Given the description of an element on the screen output the (x, y) to click on. 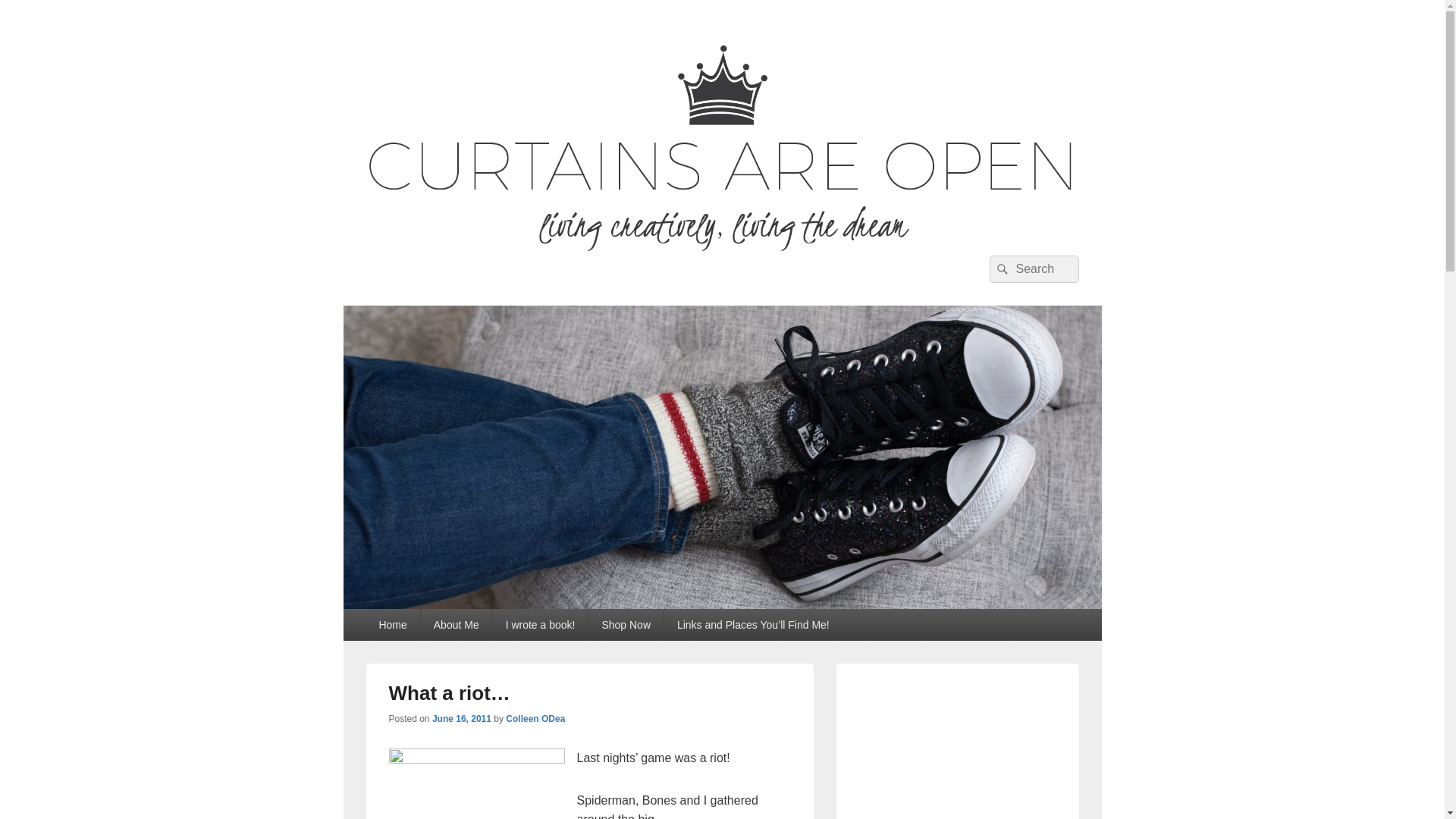
View all posts by Colleen ODea (534, 718)
Curtains are Open (483, 272)
1:44 pm (462, 718)
About Me (456, 624)
Shop Now (625, 624)
I wrote a book! (540, 624)
Home (392, 624)
Curtains are Open (721, 604)
Search for: (1033, 268)
June 16, 2011 (462, 718)
Colleen ODea (534, 718)
